Given the description of an element on the screen output the (x, y) to click on. 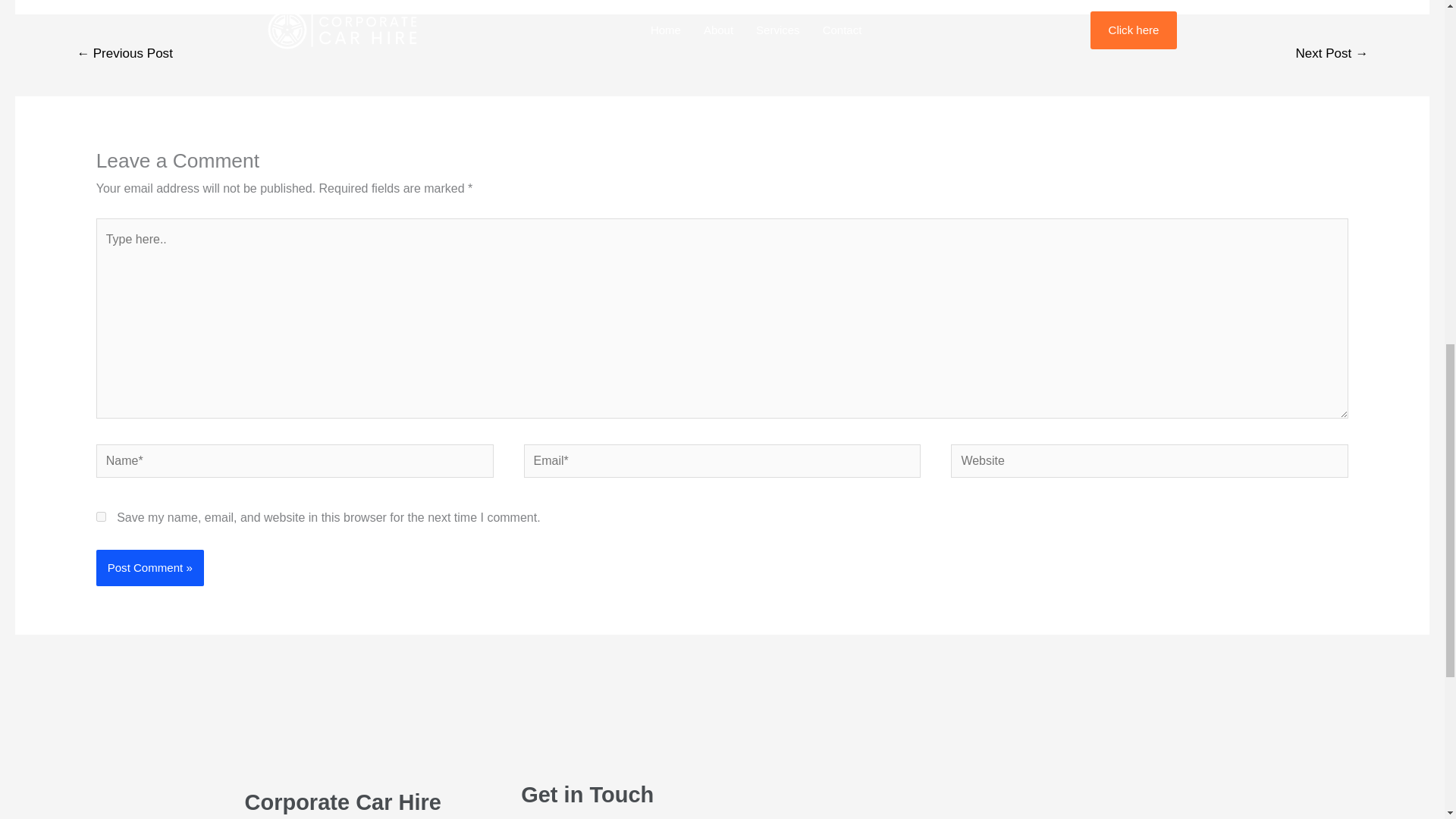
yes (101, 516)
